Given the description of an element on the screen output the (x, y) to click on. 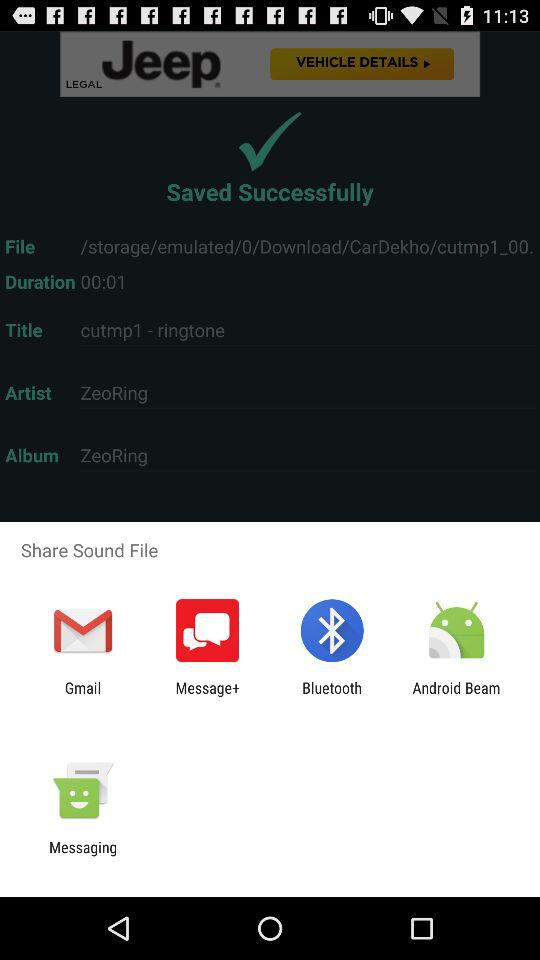
choose gmail item (82, 696)
